Given the description of an element on the screen output the (x, y) to click on. 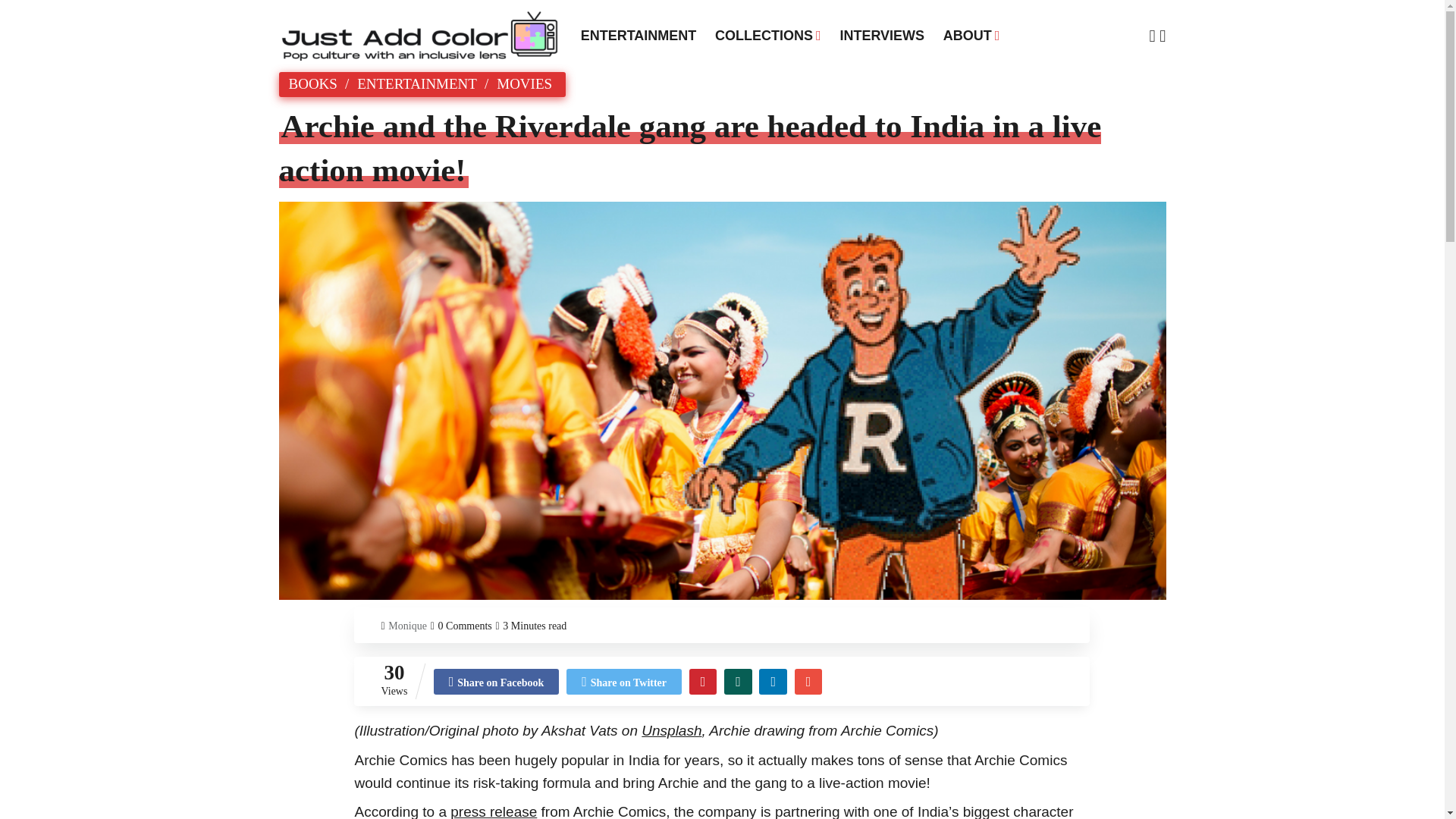
Monique (407, 626)
ABOUT (971, 35)
BOOKS (312, 83)
MOVIES (523, 83)
ENTERTAINMENT (416, 83)
COLLECTIONS (767, 35)
INTERVIEWS (881, 35)
ENTERTAINMENT (638, 35)
Search (455, 14)
